Given the description of an element on the screen output the (x, y) to click on. 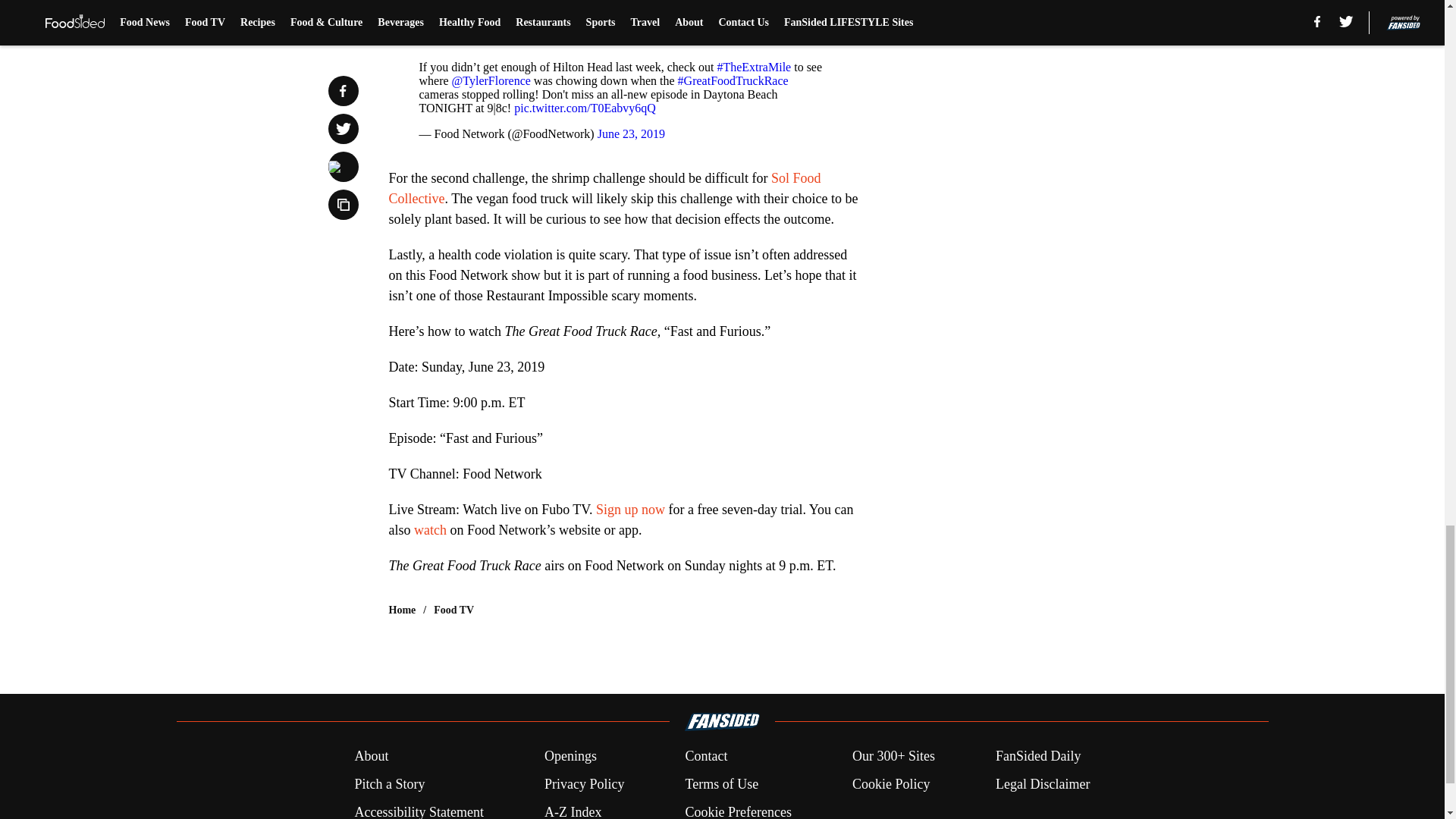
June 23, 2019 (630, 133)
Home (401, 610)
watch (431, 529)
Contact (705, 756)
About (370, 756)
FanSided Daily (1038, 756)
Sign up now (630, 509)
Openings (570, 756)
Food TV (453, 610)
Sol Food Collective (604, 188)
